Given the description of an element on the screen output the (x, y) to click on. 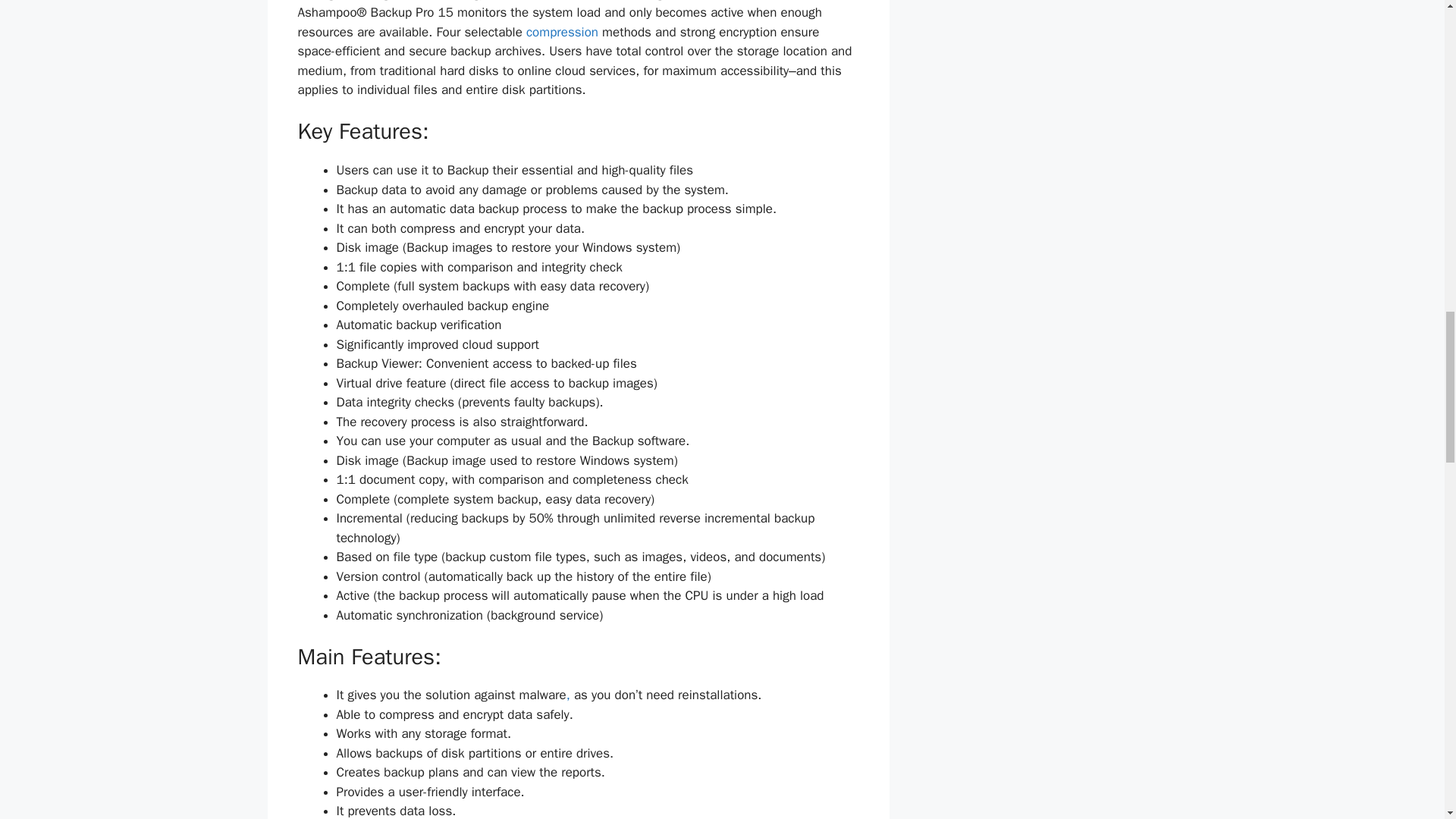
compression (561, 32)
